Given the description of an element on the screen output the (x, y) to click on. 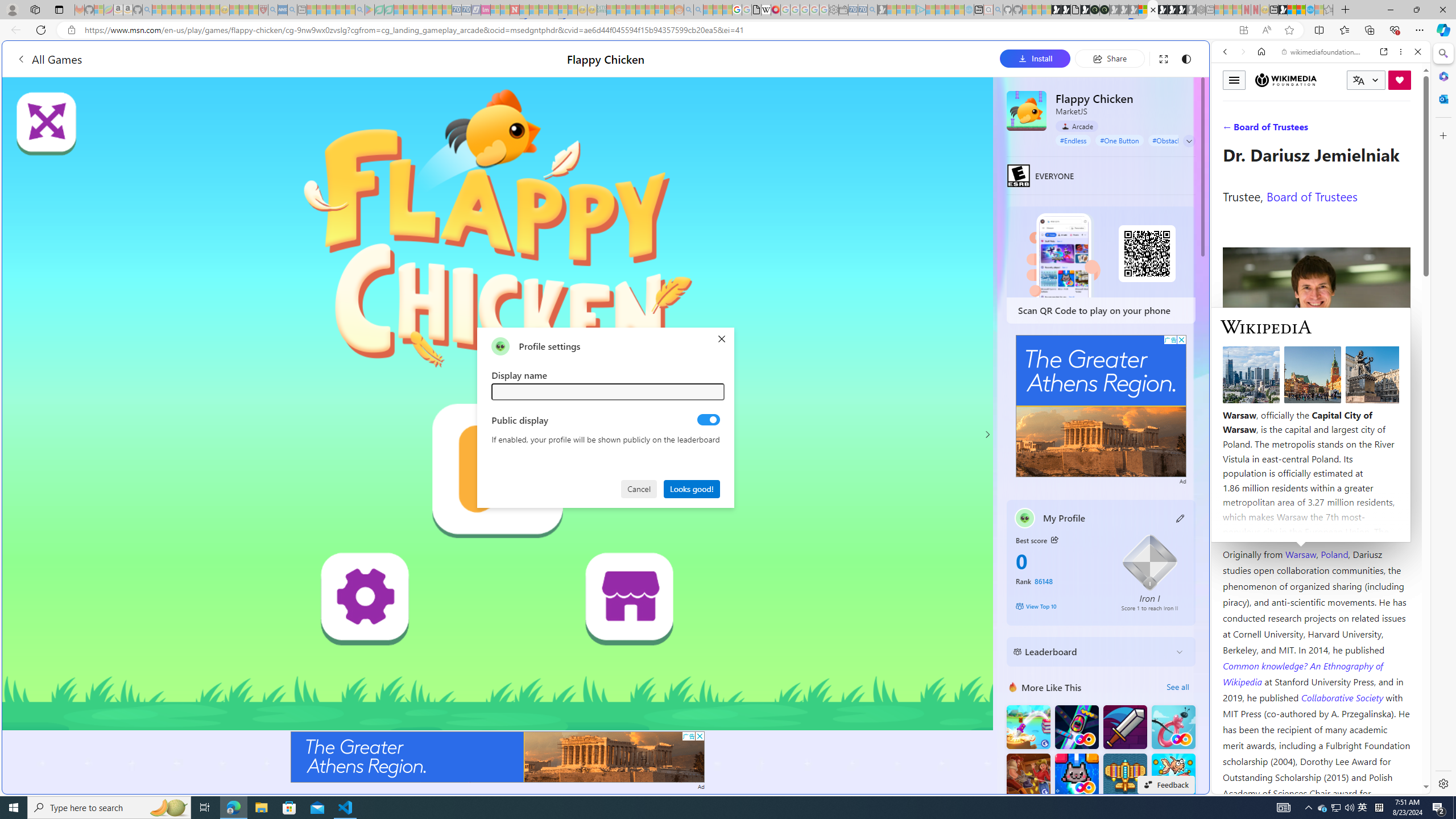
Class: expand-arrow neutral (1188, 141)
Home | Sky Blue Bikes - Sky Blue Bikes - Sleeping (968, 9)
Play Zoo Boom in your browser | Games from Microsoft Start (1065, 9)
#Obstacle Course (1178, 140)
Class: b_serphb (1404, 130)
Microsoft Start Gaming - Sleeping (881, 9)
Profile on Meta-Wiki (1273, 405)
Microsoft-Report a Concern to Bing - Sleeping (98, 9)
Jobs - lastminute.com Investor Portal - Sleeping (485, 9)
IMAGES (1262, 130)
